Given the description of an element on the screen output the (x, y) to click on. 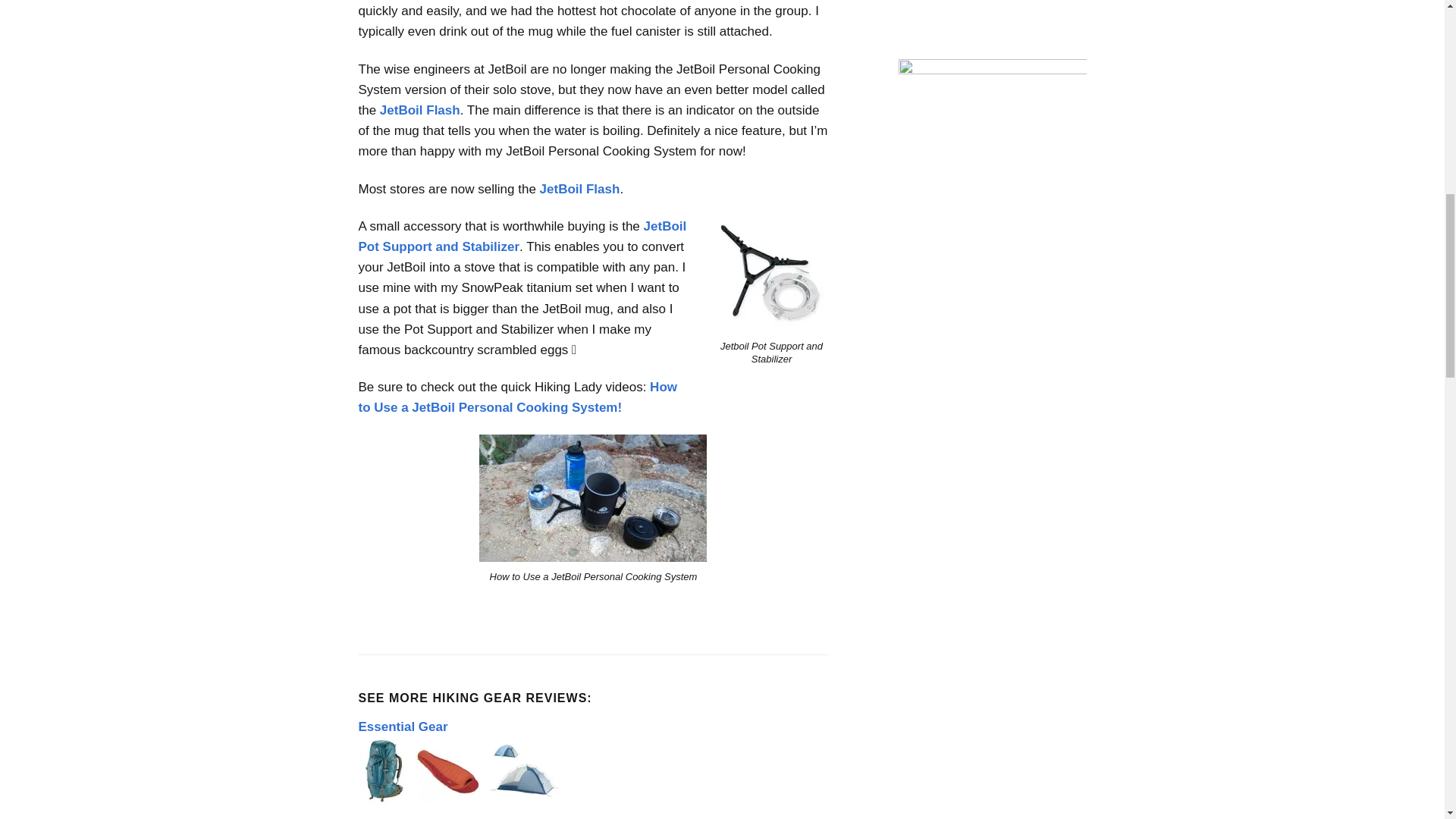
JetBoil Flash (580, 188)
Essential Gear (460, 771)
JetBoil Personal Cooking System (592, 497)
JetBoil Flash (420, 110)
Essential Gear (460, 800)
Jetboil Pot Support and Stabilizer (771, 274)
Essential Gear (402, 726)
